Given the description of an element on the screen output the (x, y) to click on. 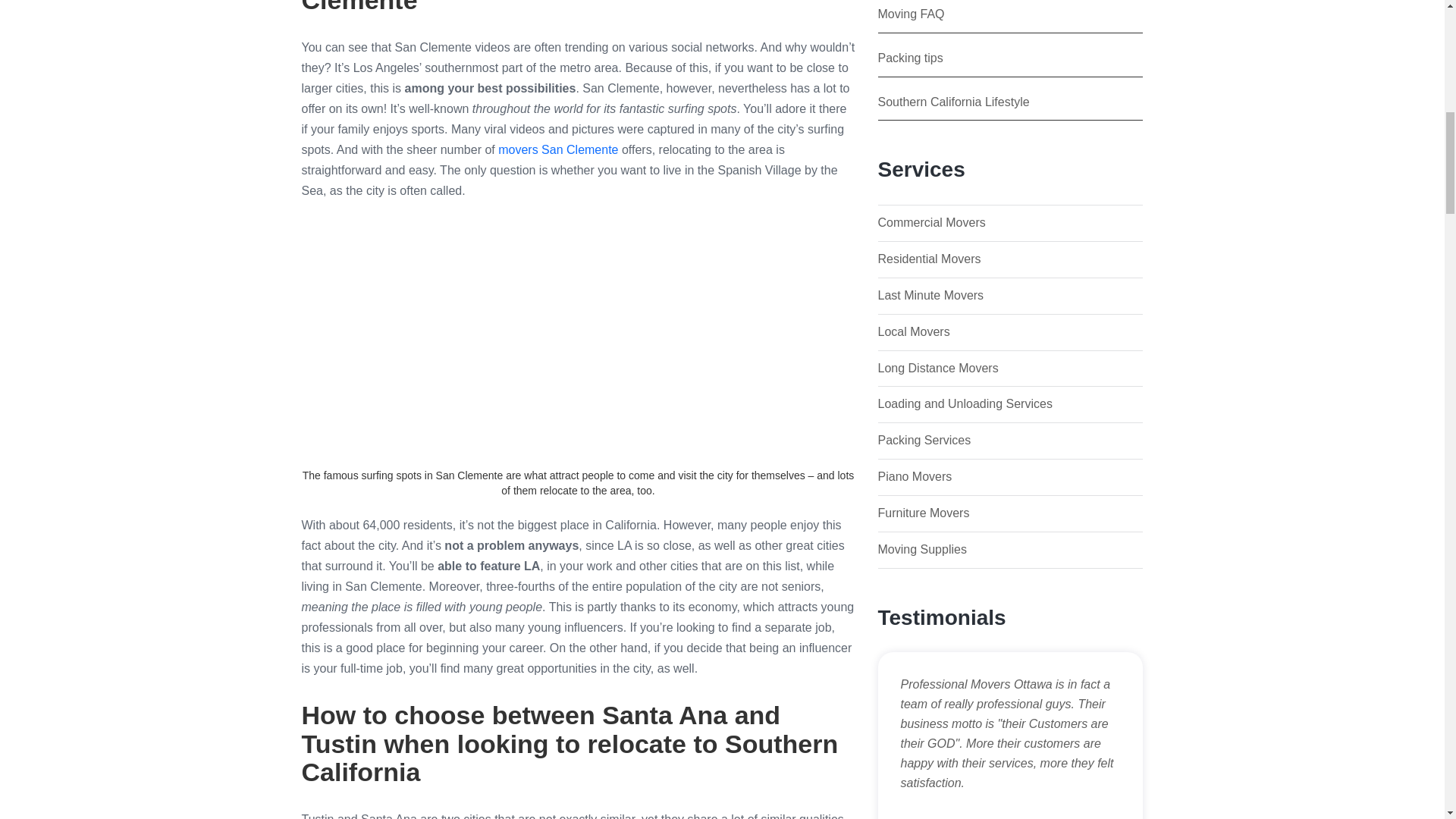
movers San Clemente (557, 149)
